Given the description of an element on the screen output the (x, y) to click on. 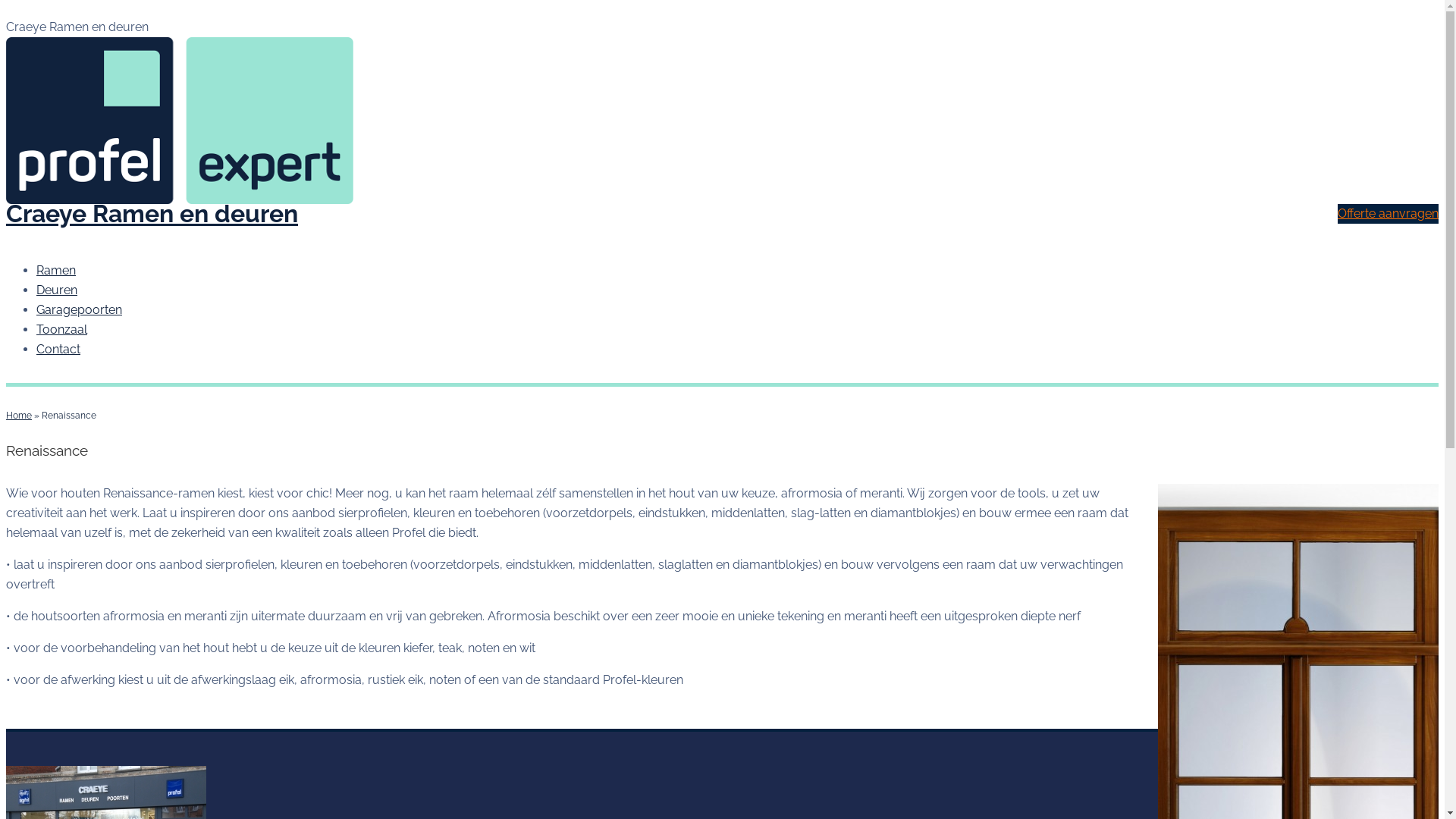
Toonzaal Element type: text (61, 329)
Garagepoorten Element type: text (79, 309)
Offerte aanvragen Element type: text (1387, 213)
Contact Element type: text (58, 349)
Craeye Ramen en deuren Element type: text (152, 213)
Deuren Element type: text (56, 289)
Home Element type: text (18, 415)
Ramen Element type: text (55, 270)
Craeye Ramen en deuren Element type: hover (722, 120)
